Given the description of an element on the screen output the (x, y) to click on. 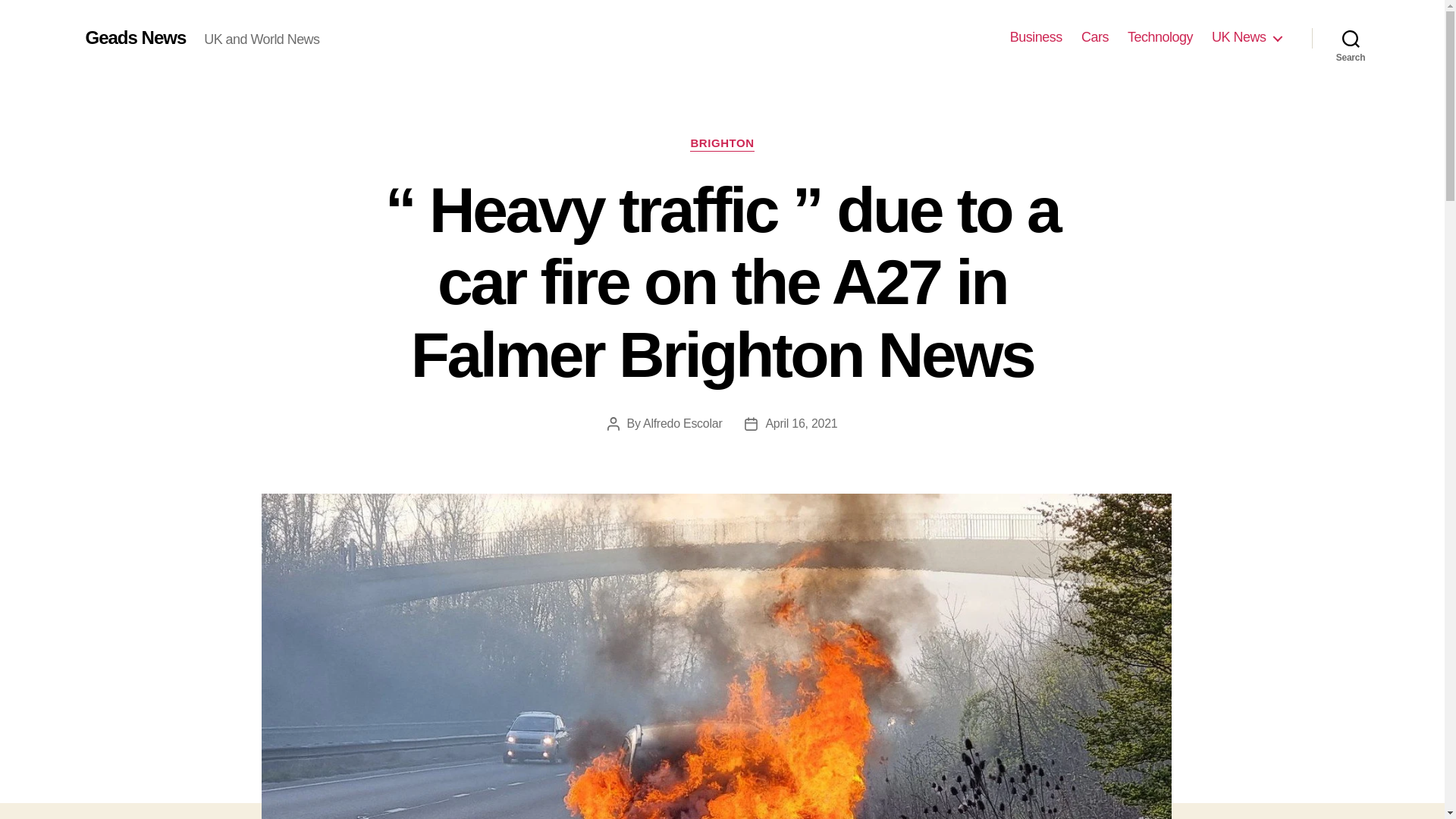
Technology (1159, 37)
Alfredo Escolar (682, 422)
April 16, 2021 (801, 422)
Cars (1094, 37)
BRIGHTON (722, 143)
Business (1036, 37)
UK News (1246, 37)
Search (1350, 37)
Geads News (135, 37)
